Given the description of an element on the screen output the (x, y) to click on. 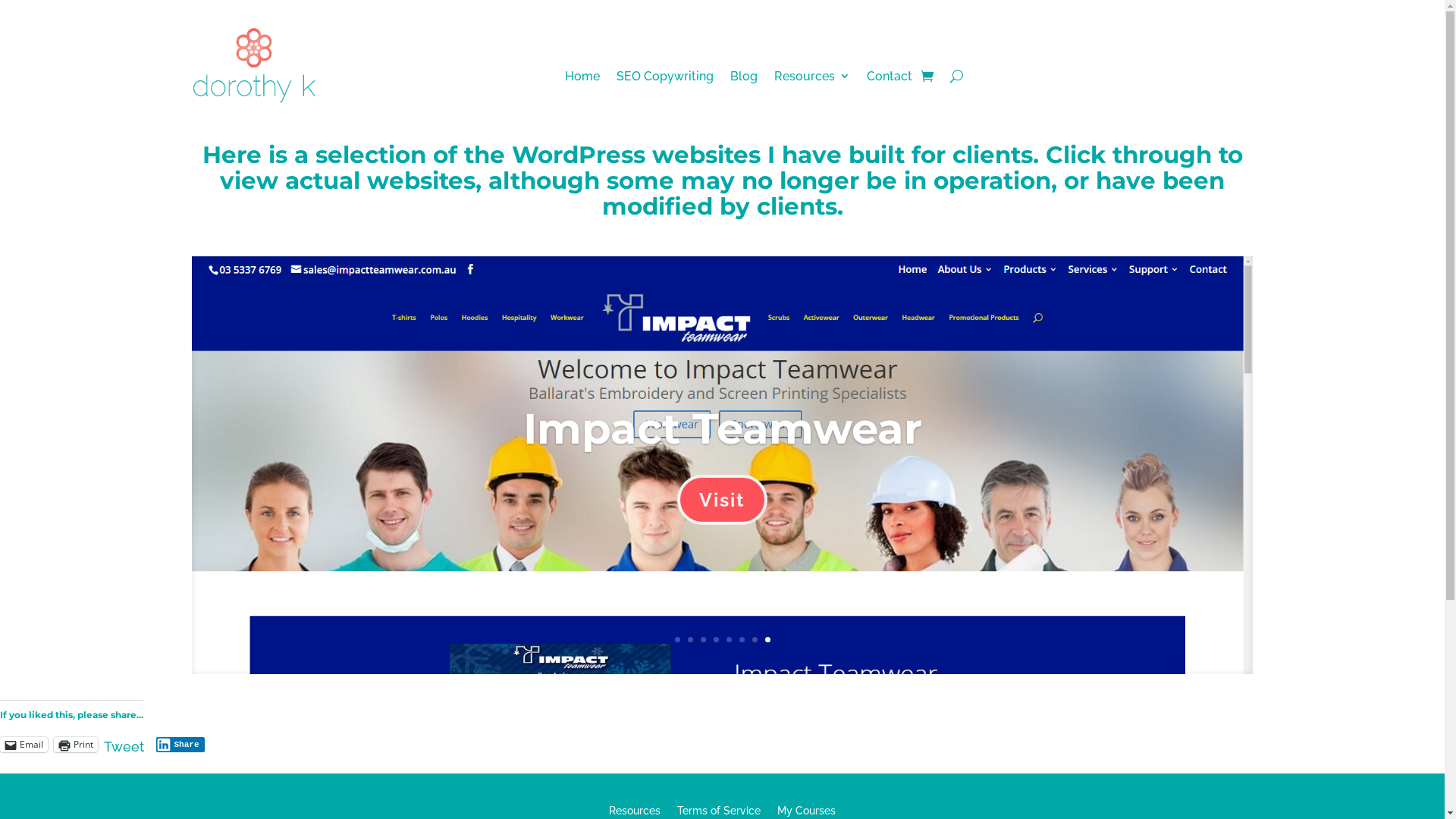
Resources Element type: text (812, 79)
1 Element type: text (677, 639)
6 Element type: text (740, 639)
7 Element type: text (754, 639)
Contact Element type: text (889, 79)
Email Element type: text (23, 744)
Print Element type: text (75, 744)
3 Element type: text (703, 639)
5 Element type: text (728, 639)
Blog Element type: text (743, 79)
Visit Element type: text (722, 499)
Home Element type: text (581, 79)
Tweet Element type: text (123, 743)
4 Element type: text (715, 639)
2 Element type: text (689, 639)
8 Element type: text (766, 639)
Share Element type: text (180, 744)
SEO Copywriting Element type: text (664, 79)
Impact Teamwear Element type: text (722, 428)
